Given the description of an element on the screen output the (x, y) to click on. 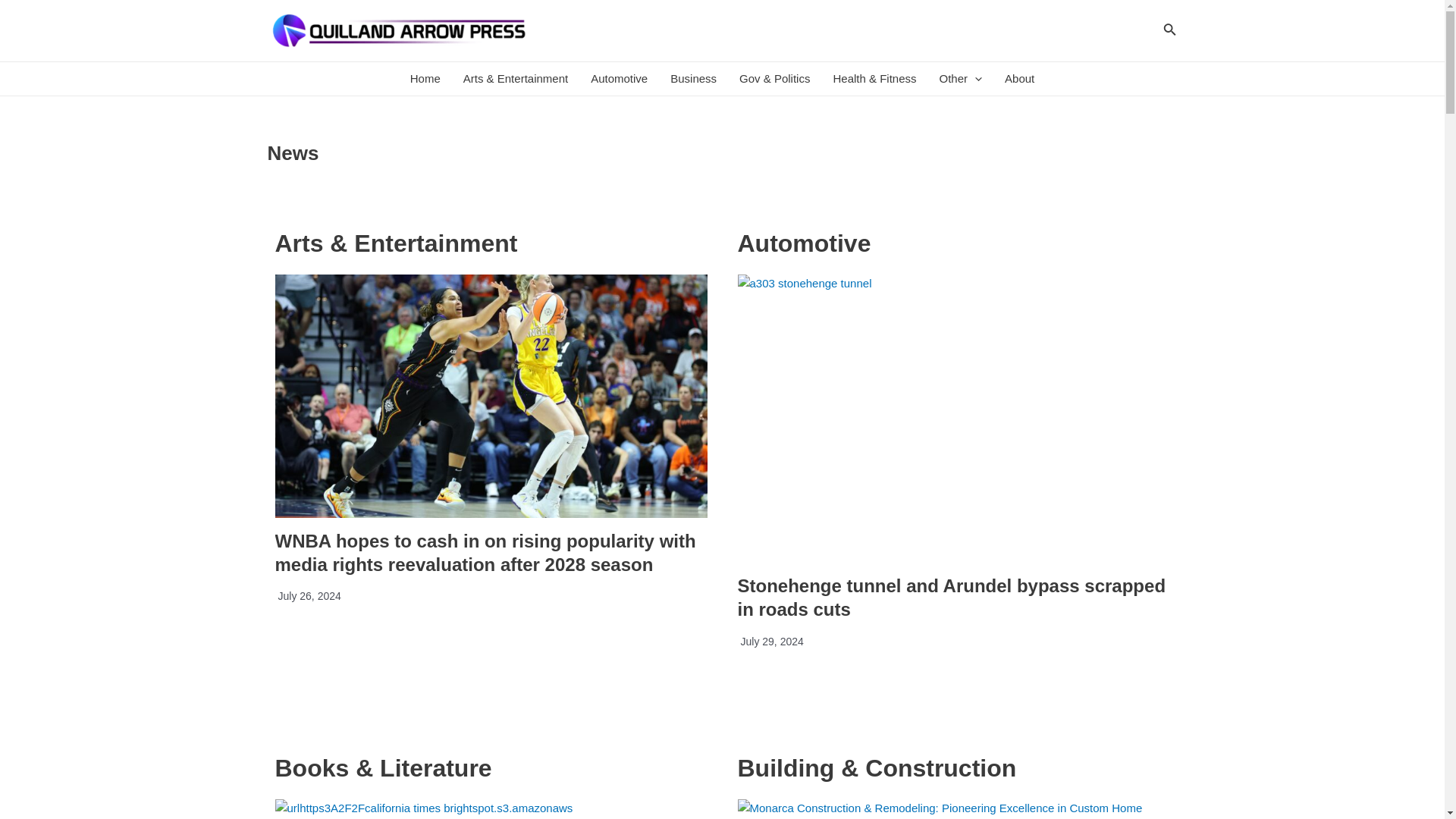
Business (693, 78)
About (1018, 78)
Automotive (619, 78)
Home (424, 78)
Other (961, 78)
